Given the description of an element on the screen output the (x, y) to click on. 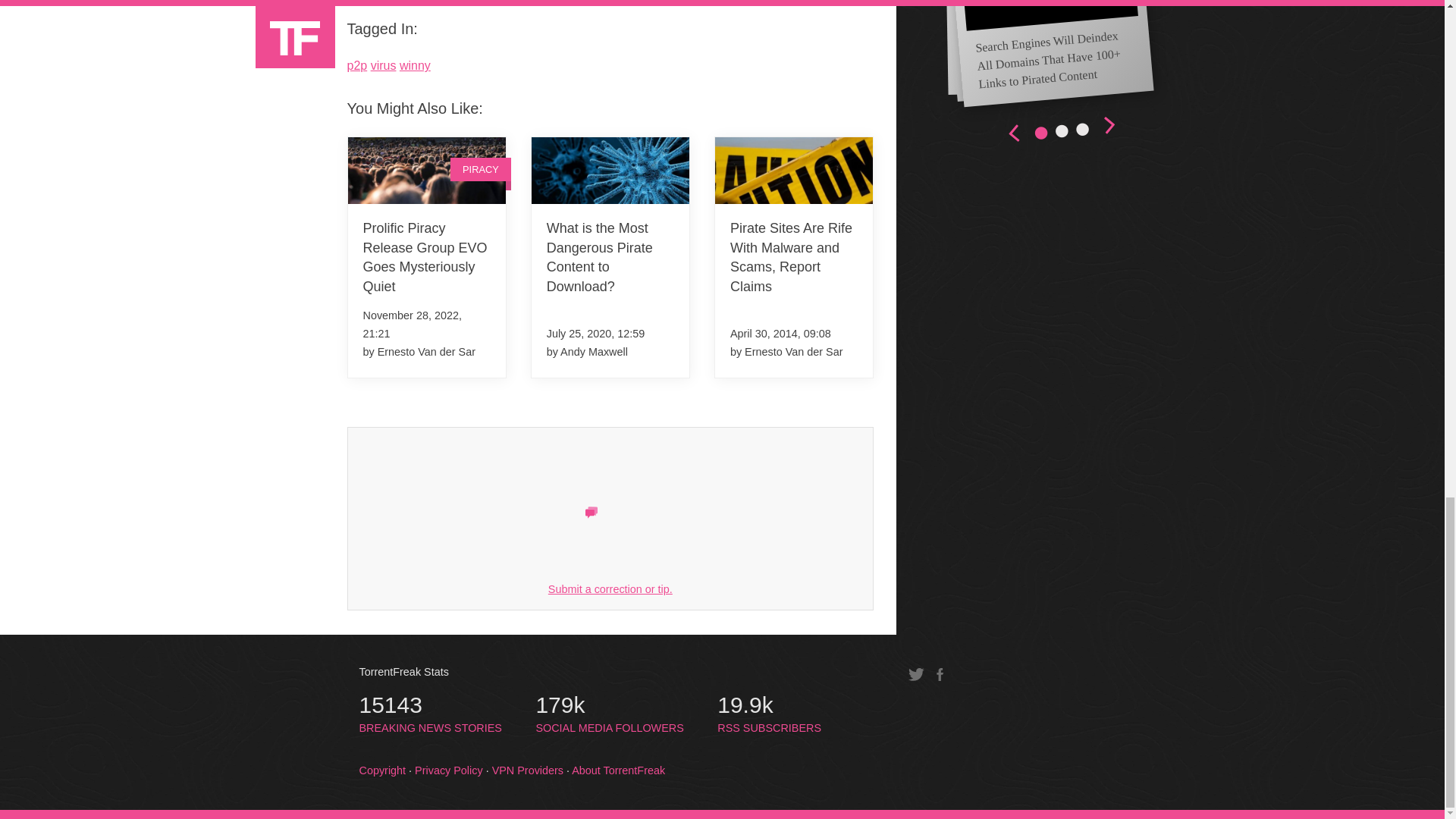
virus (383, 65)
Submit a correction or tip. (610, 589)
p2p (357, 65)
winny (414, 65)
